Given the description of an element on the screen output the (x, y) to click on. 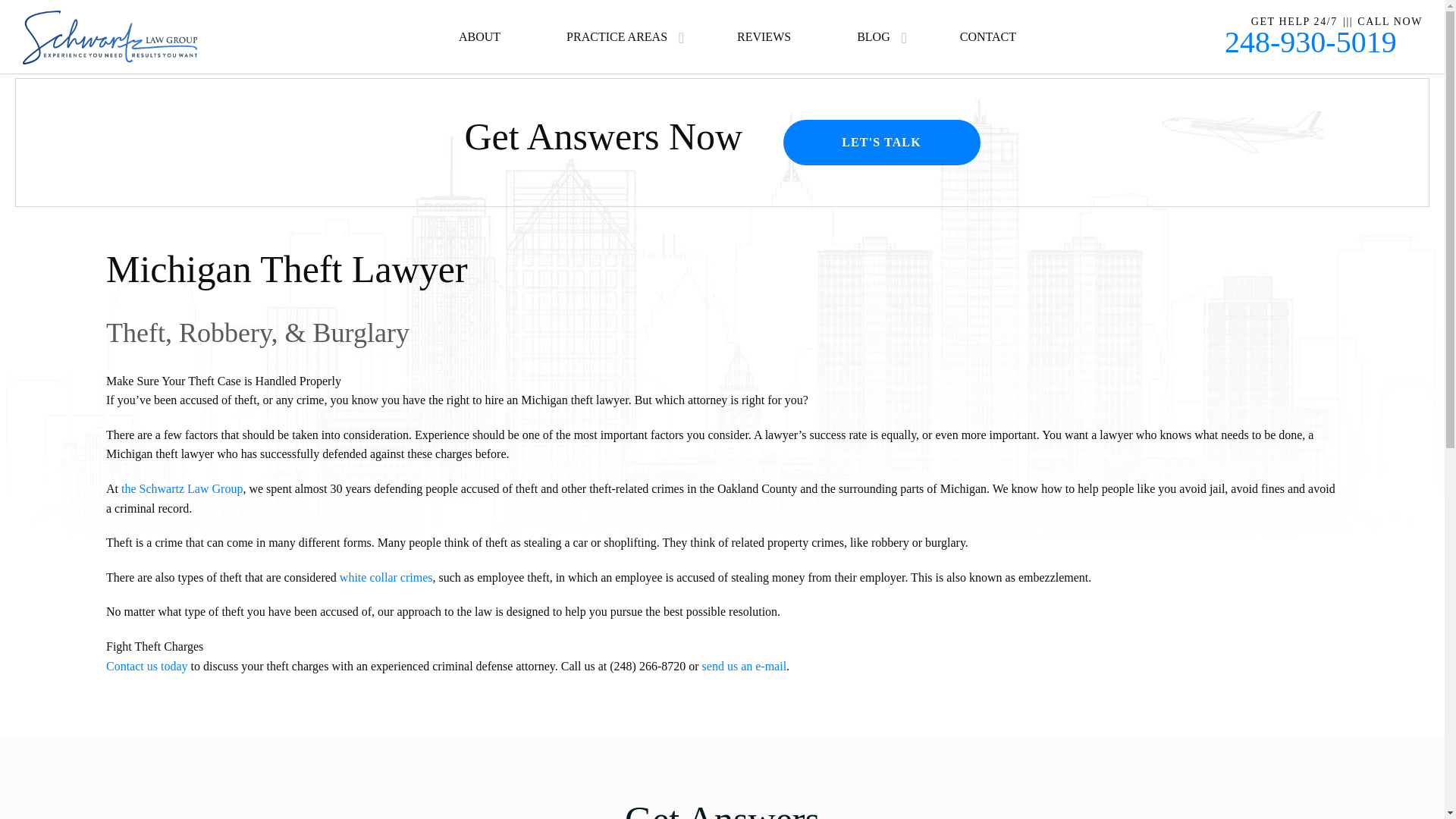
248-930-5019 (1310, 41)
LET'S TALK (881, 142)
white collar crimes (385, 576)
send us an e-mail (744, 666)
the Schwartz Law Group (181, 488)
CONTACT (987, 50)
Contact us today (146, 666)
PRACTICE AREAS (616, 50)
ABOUT (479, 50)
REVIEWS (763, 50)
